Given the description of an element on the screen output the (x, y) to click on. 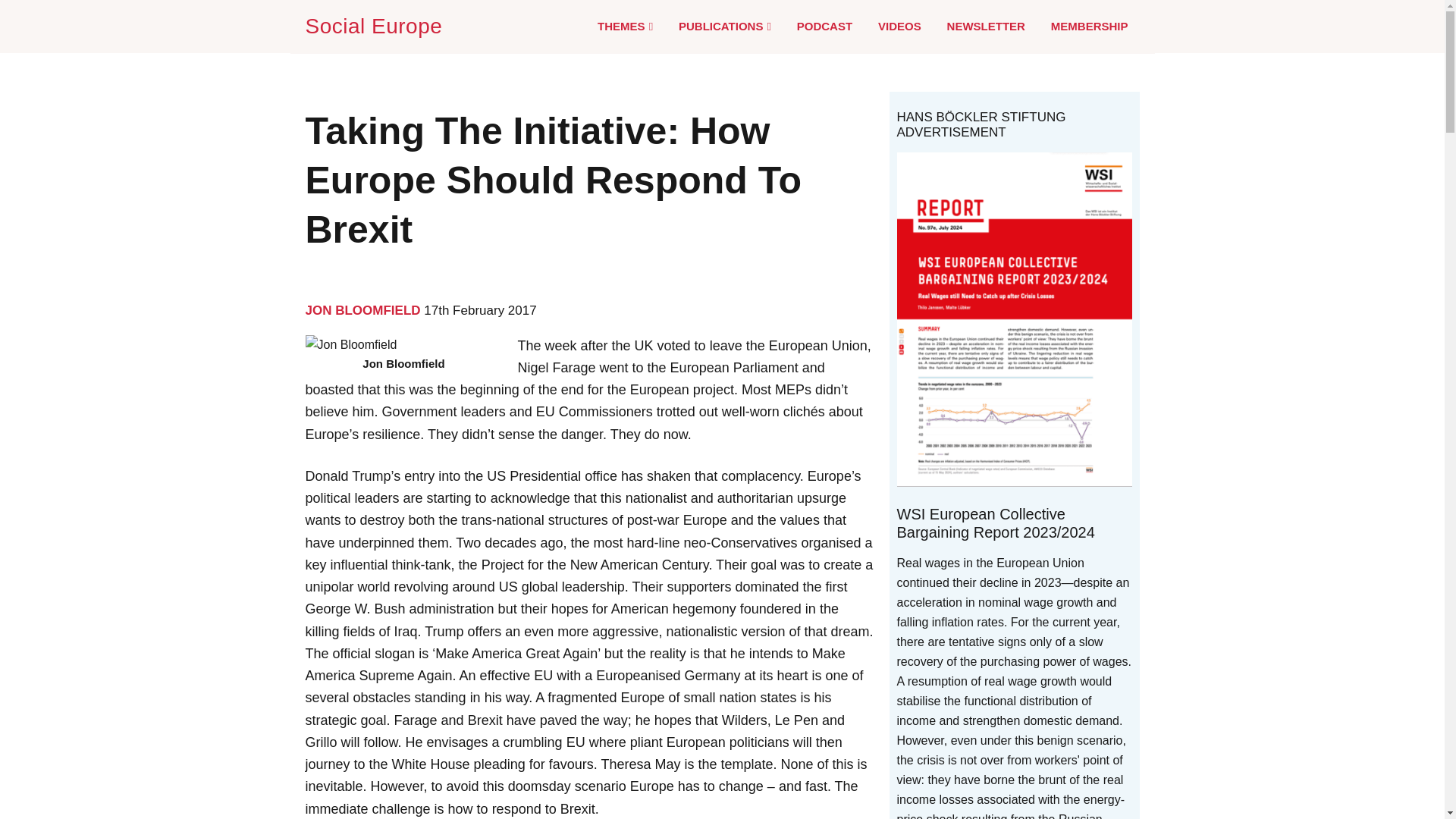
THEMES (624, 26)
PODCAST (824, 25)
JON BLOOMFIELD (362, 310)
NEWSLETTER (986, 25)
PUBLICATIONS (724, 26)
MEMBERSHIP (1089, 25)
Social Europe (376, 26)
VIDEOS (899, 25)
